Given the description of an element on the screen output the (x, y) to click on. 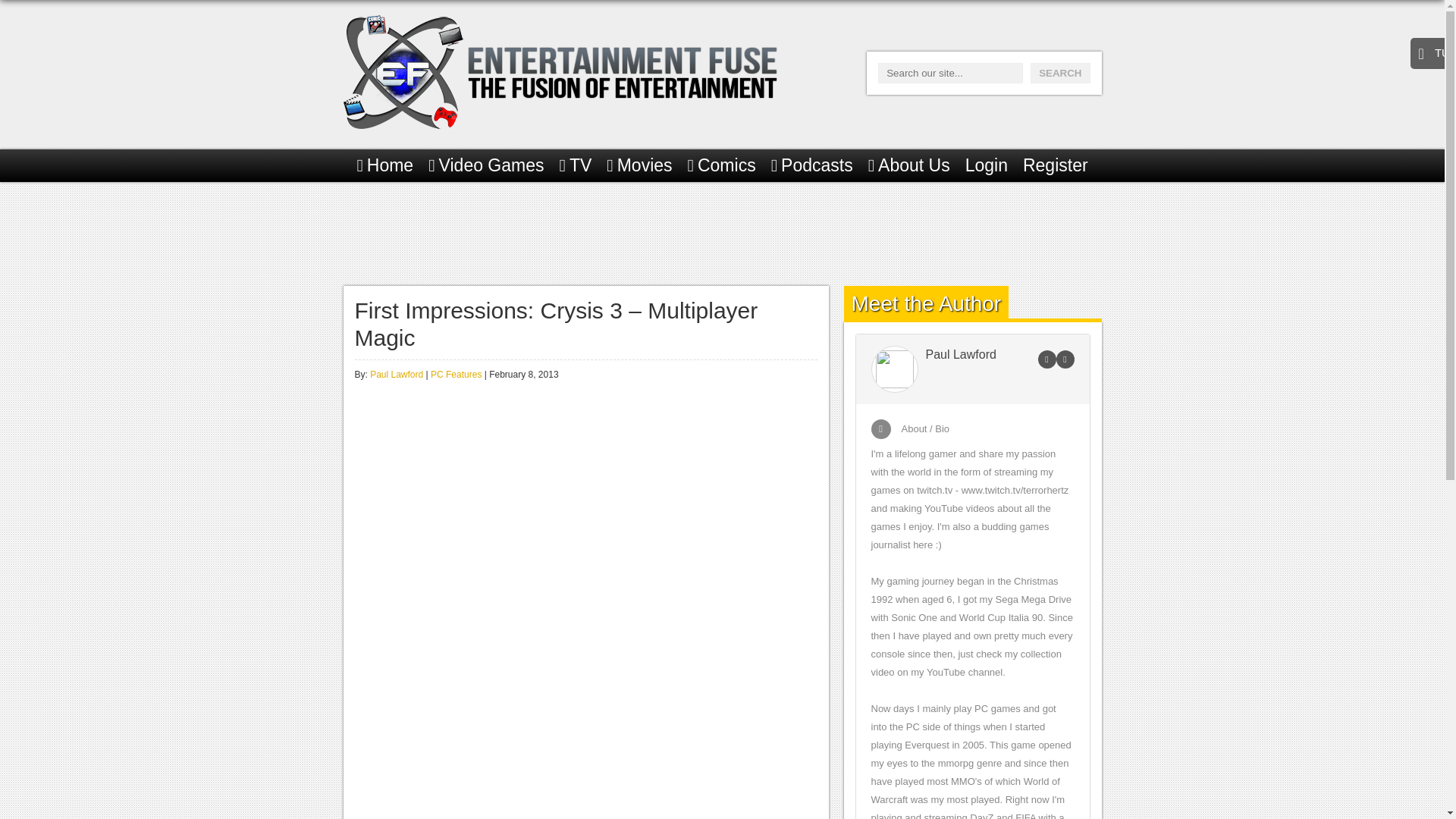
TV (575, 165)
Send E-mail (1045, 359)
Comics (721, 165)
Connect via Twitter (1064, 359)
Posts by Paul Lawford (396, 374)
Home (384, 165)
Video Games (485, 165)
Search (1059, 73)
Search (1059, 73)
Movies (639, 165)
